Given the description of an element on the screen output the (x, y) to click on. 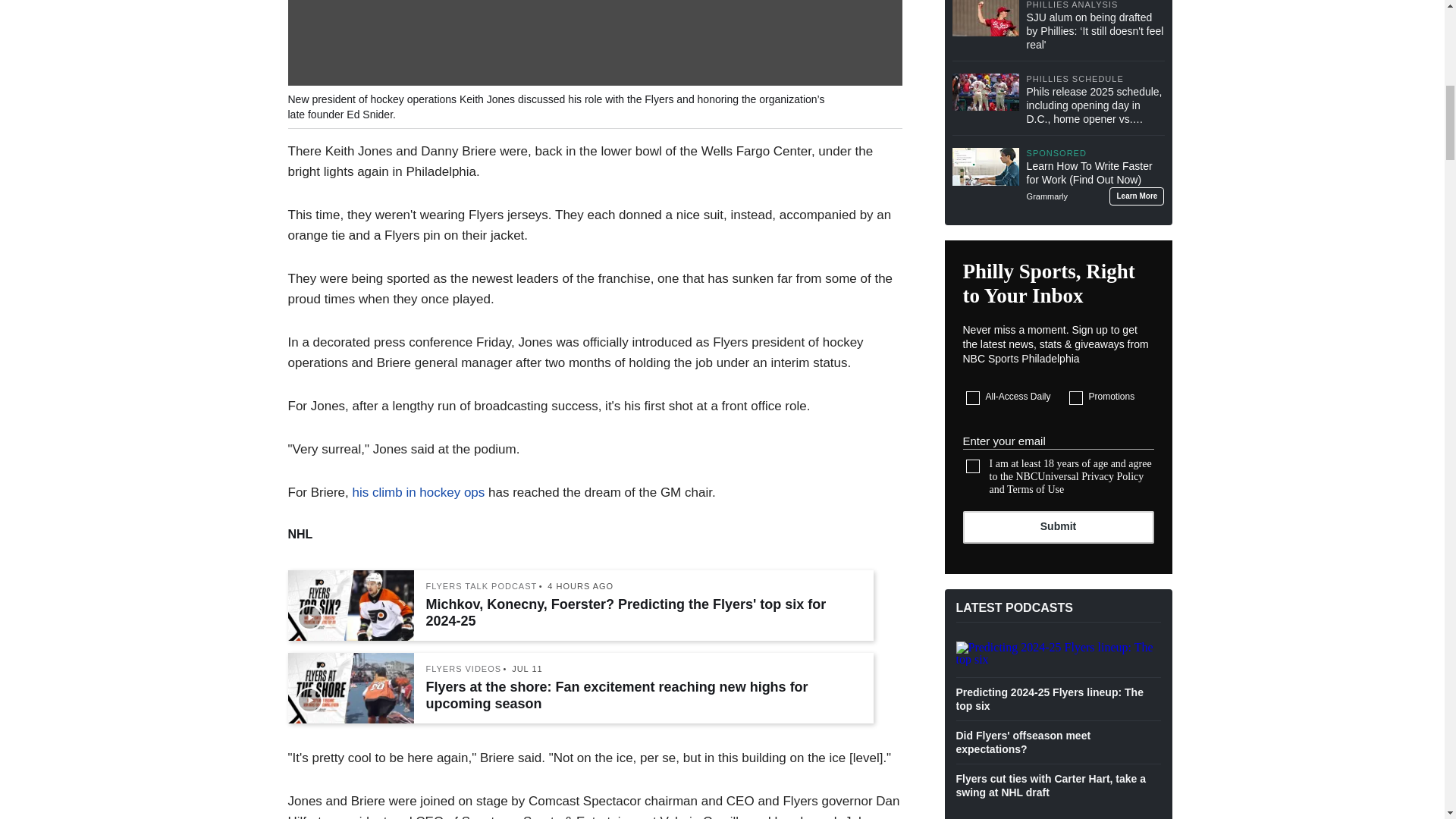
FLYERS TALK PODCAST (481, 586)
his climb in hockey ops (418, 492)
on (1075, 397)
FLYERS VIDEOS (464, 668)
on (972, 397)
on (972, 466)
